Given the description of an element on the screen output the (x, y) to click on. 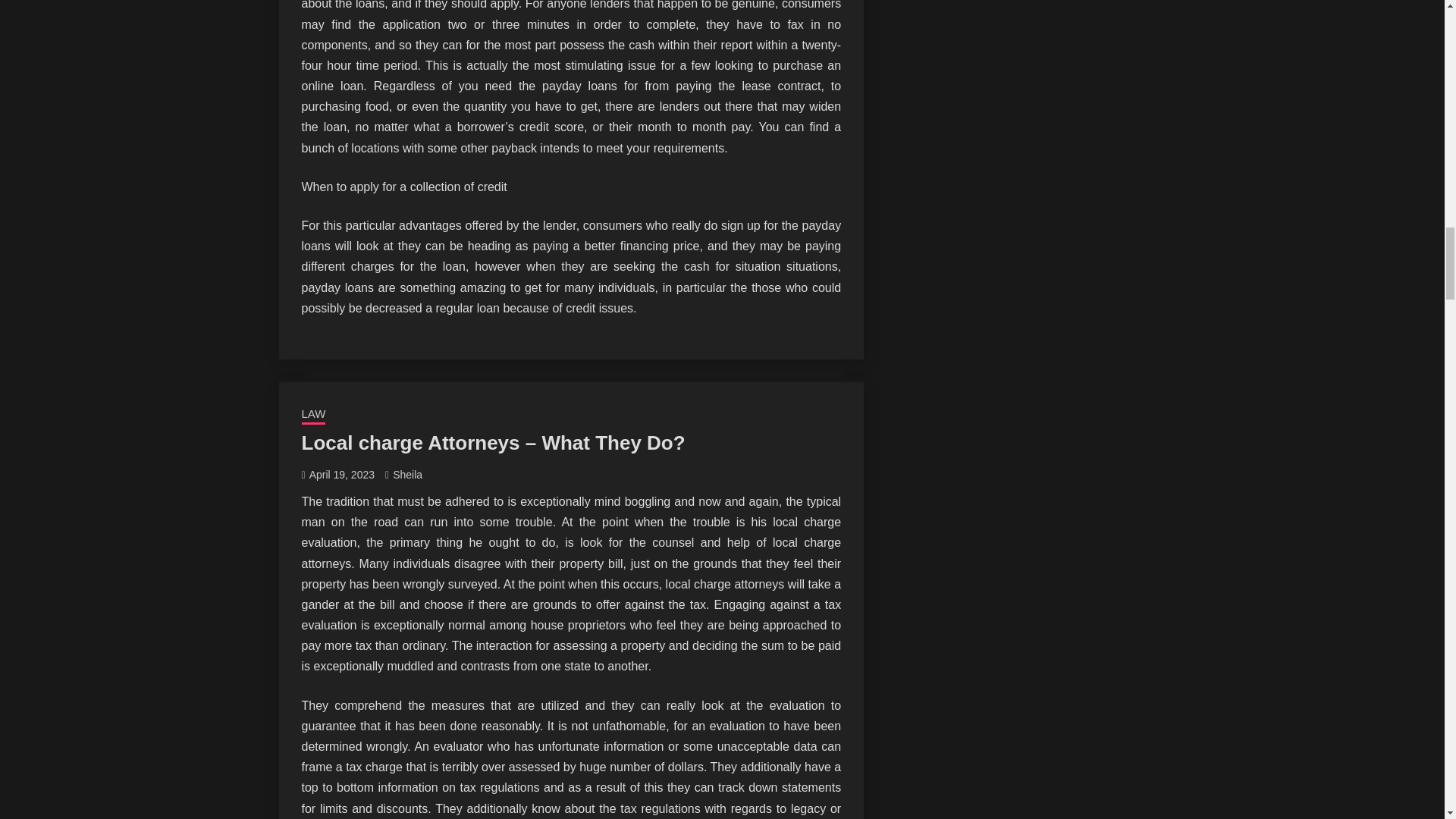
LAW (313, 415)
Sheila (407, 474)
April 19, 2023 (341, 474)
